Given the description of an element on the screen output the (x, y) to click on. 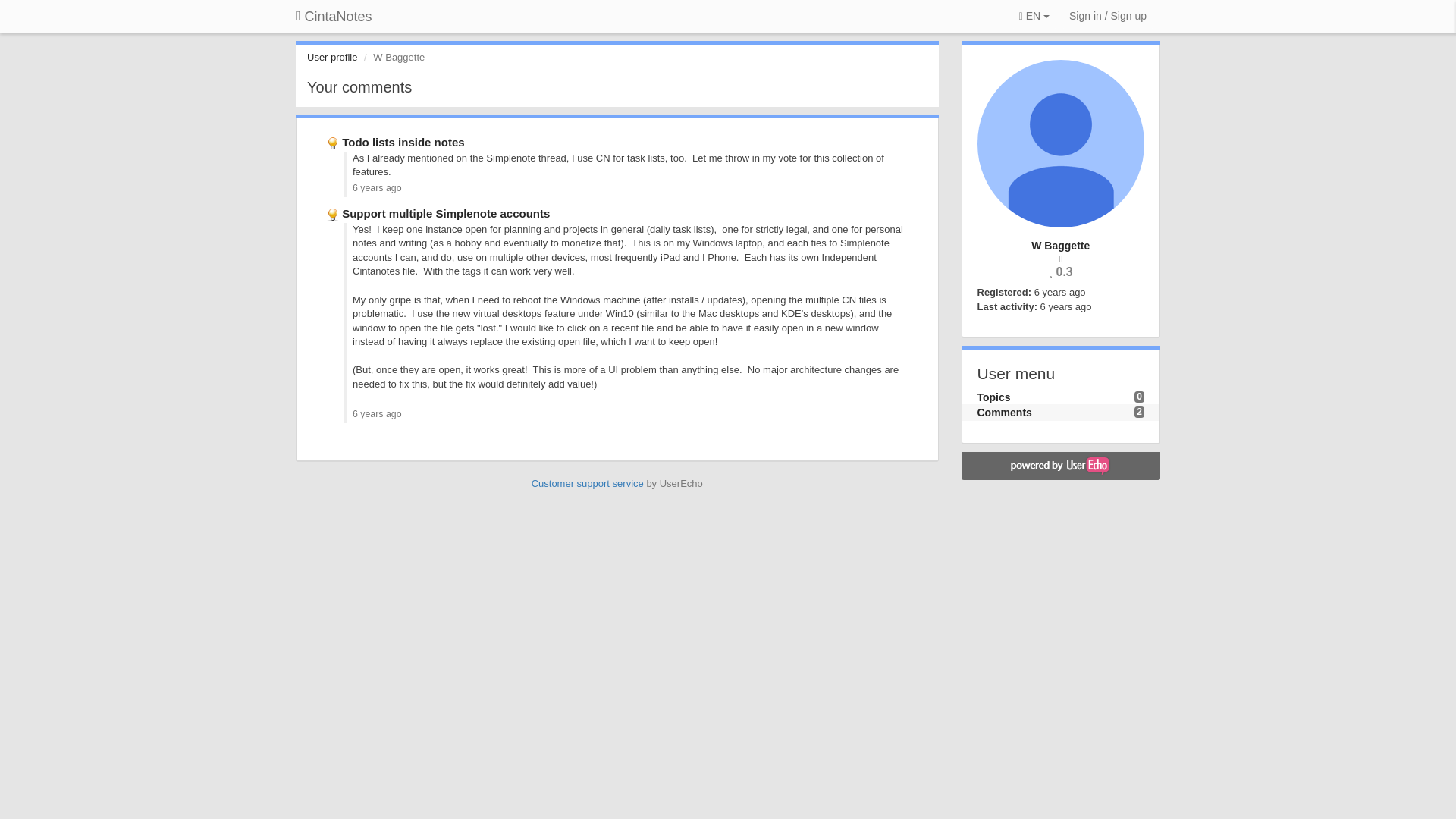
Topics (993, 397)
CintaNotes (333, 16)
Feb. 3, 2018, 2:47 a.m. (1059, 292)
6 years ago (376, 187)
6 years ago (376, 413)
Support multiple Simplenote accounts (446, 213)
EN (1034, 16)
Feb. 5, 2018, 12:24 a.m. (1066, 306)
Todo lists inside notes (403, 141)
Ideas (334, 141)
Customer support service (587, 482)
Ideas (334, 213)
User profile (331, 57)
